Given the description of an element on the screen output the (x, y) to click on. 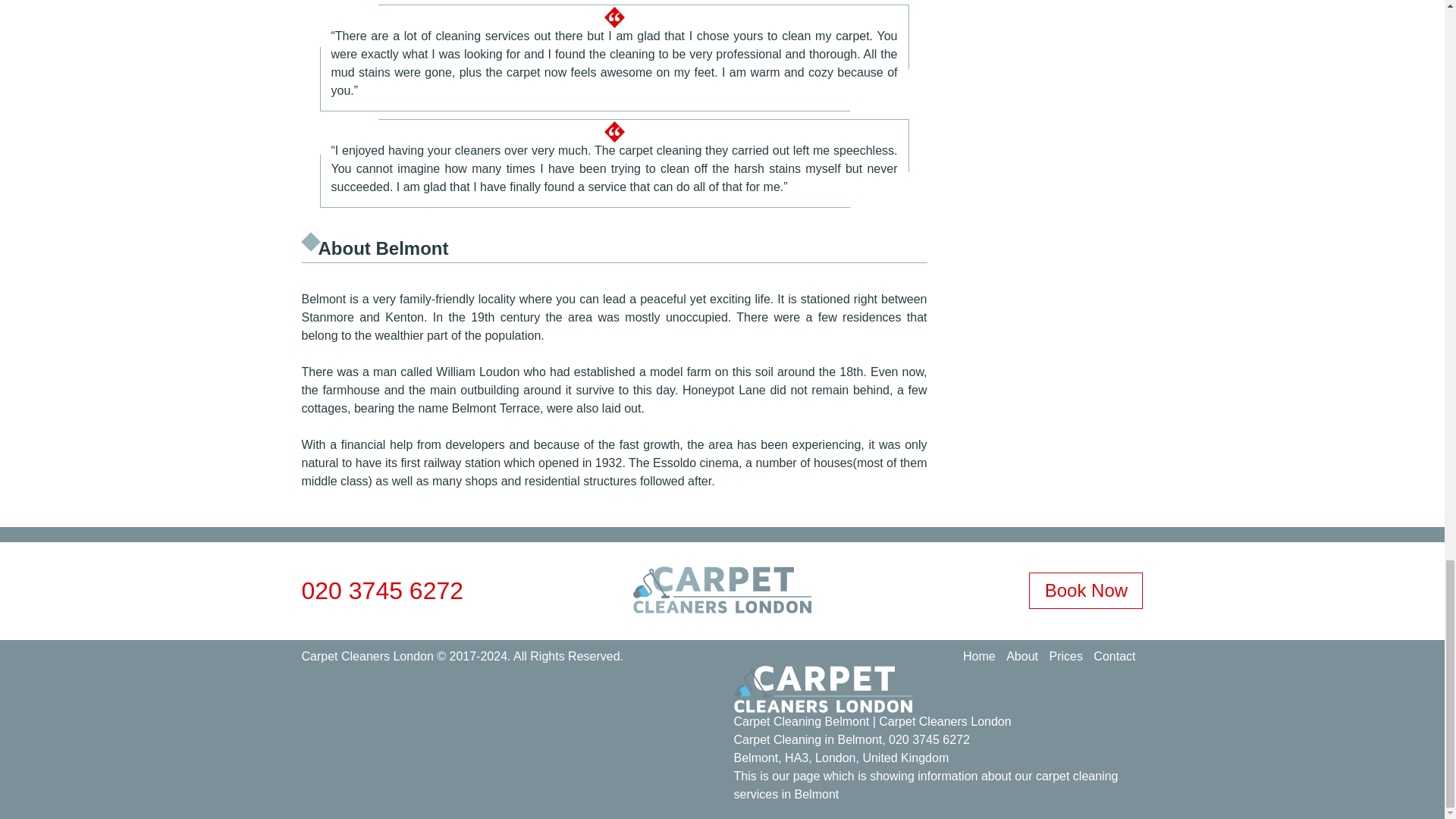
Book Now (1085, 590)
About (1022, 656)
Contact (1114, 656)
Carpet Cleaning in Belmont (807, 739)
Prices (1064, 656)
Carpet Cleaners London (367, 656)
Home (978, 656)
020 3745 6272 (382, 590)
020 3745 6272 (928, 739)
